Given the description of an element on the screen output the (x, y) to click on. 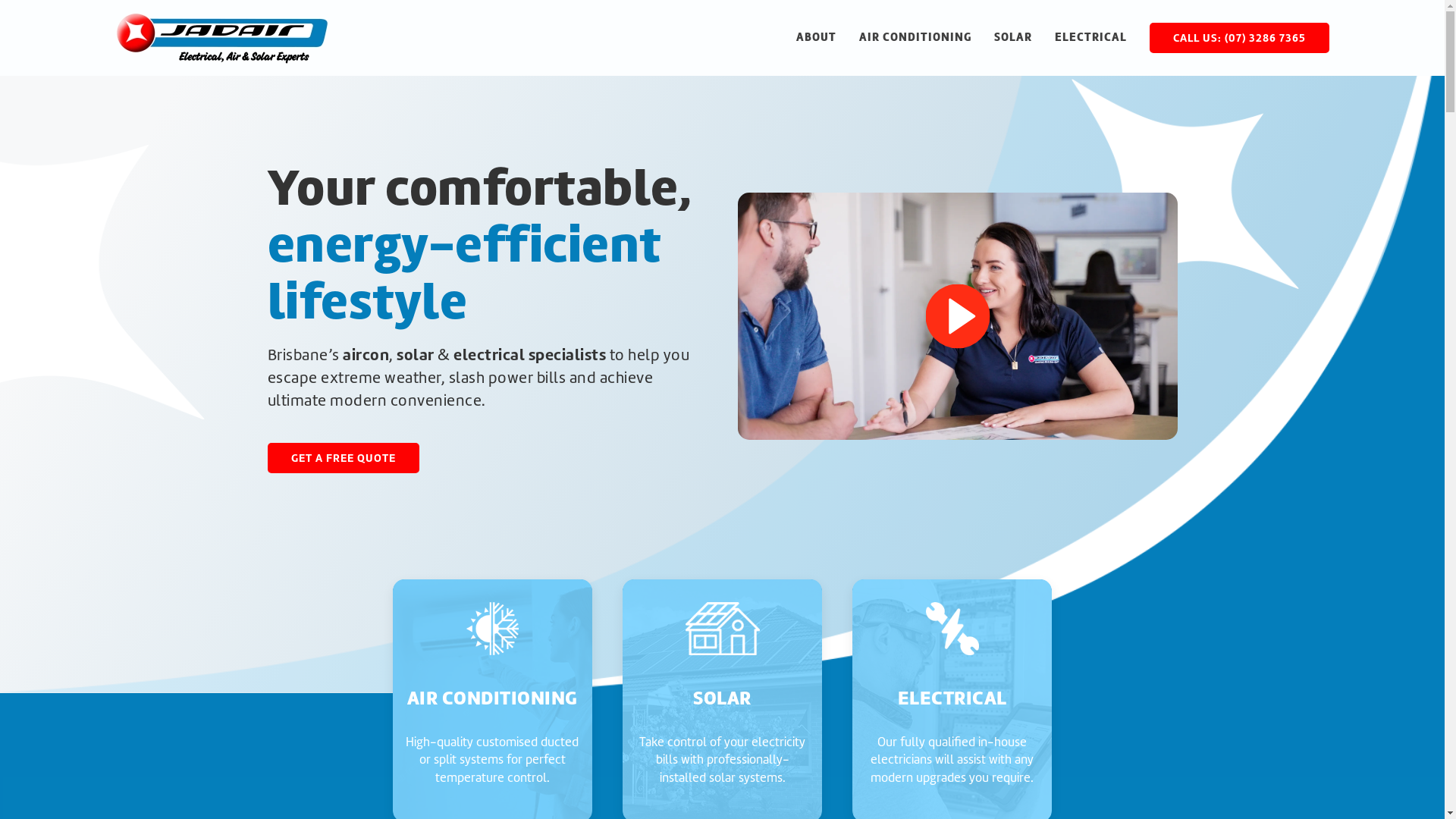
SOLAR Element type: text (1012, 37)
ABOUT Element type: text (816, 37)
ELECTRICAL Element type: text (1090, 37)
GET A FREE QUOTE Element type: text (342, 457)
CALL US: (07) 3286 7365 Element type: text (1239, 37)
AIR CONDITIONING Element type: text (914, 37)
YouTube video player Element type: hover (956, 315)
